Given the description of an element on the screen output the (x, y) to click on. 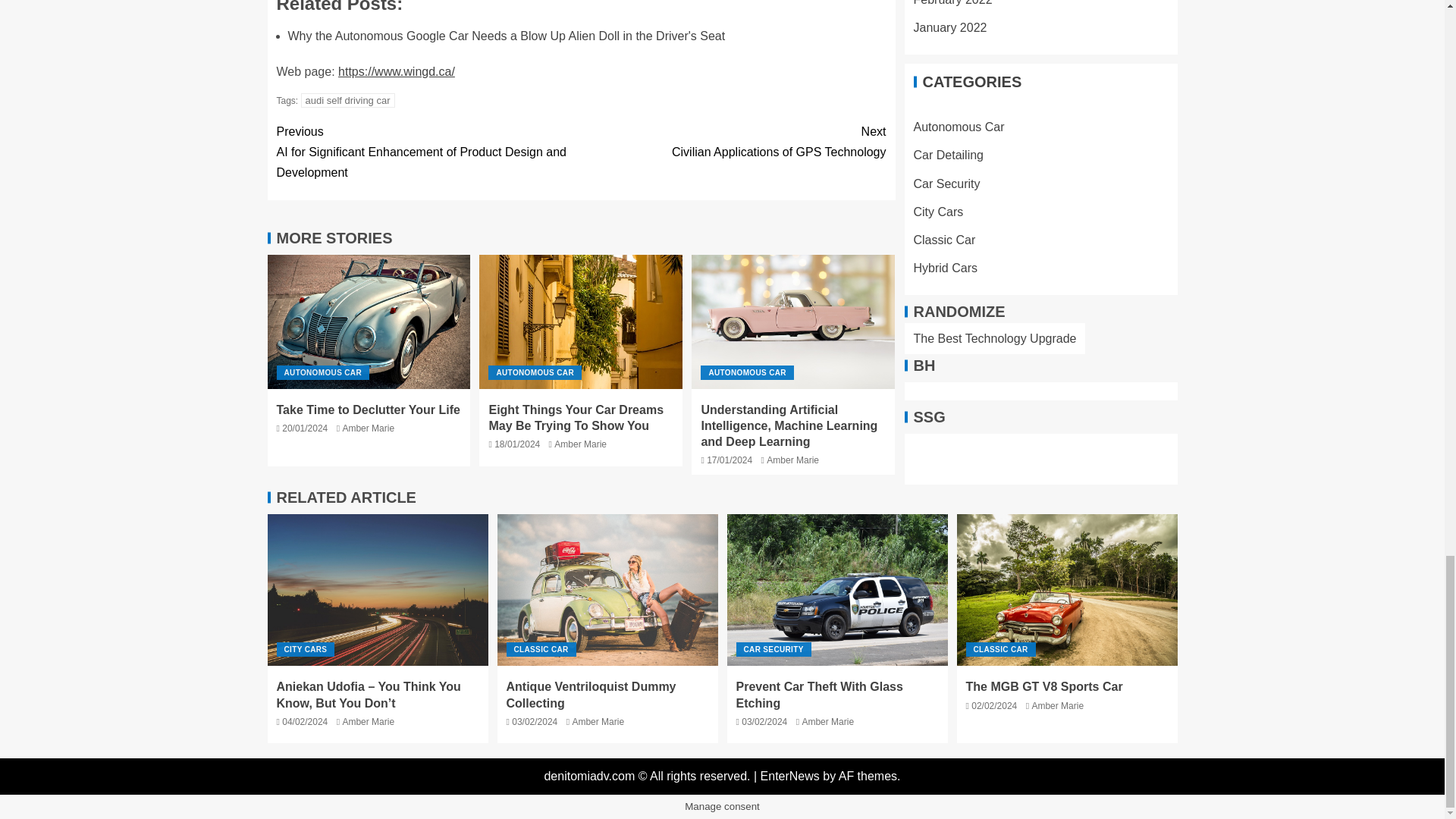
Amber Marie (368, 428)
AUTONOMOUS CAR (533, 372)
The MGB GT V8 Sports Car (1066, 589)
Eight Things Your Car Dreams May Be Trying To Show You (580, 321)
Take Time to Declutter Your Life (368, 321)
AUTONOMOUS CAR (746, 372)
Eight Things Your Car Dreams May Be Trying To Show You (575, 417)
Antique Ventriloquist Dummy Collecting (607, 589)
audi self driving car (347, 100)
Prevent Car Theft With Glass Etching (836, 589)
Amber Marie (580, 443)
Take Time to Declutter Your Life (368, 409)
